Given the description of an element on the screen output the (x, y) to click on. 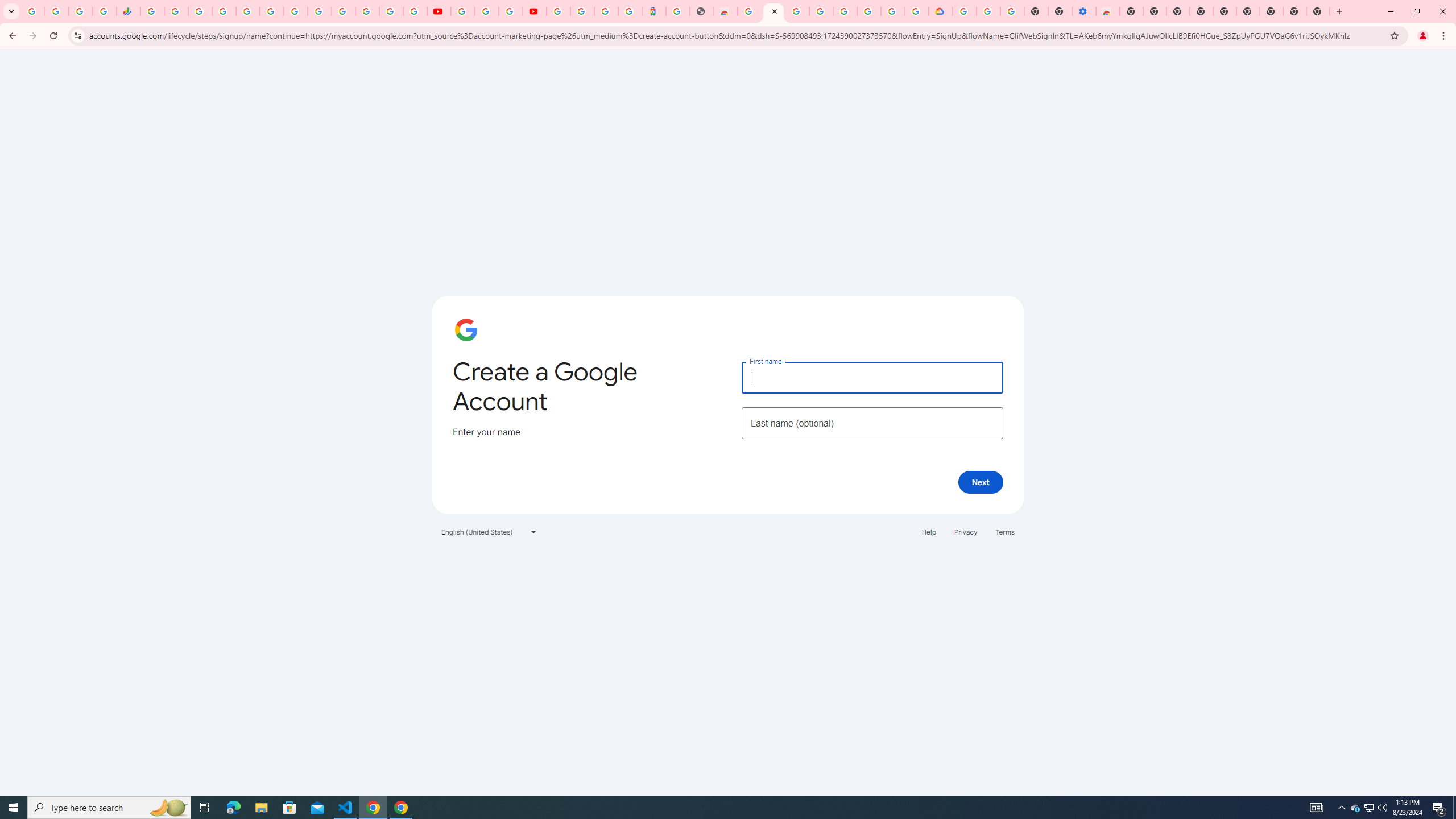
Google Account Help (844, 11)
Android TV Policies and Guidelines - Transparency Center (295, 11)
Google Account Help (988, 11)
Create your Google Account (773, 11)
Create your Google Account (510, 11)
Chrome Web Store - Accessibility extensions (1107, 11)
